Given the description of an element on the screen output the (x, y) to click on. 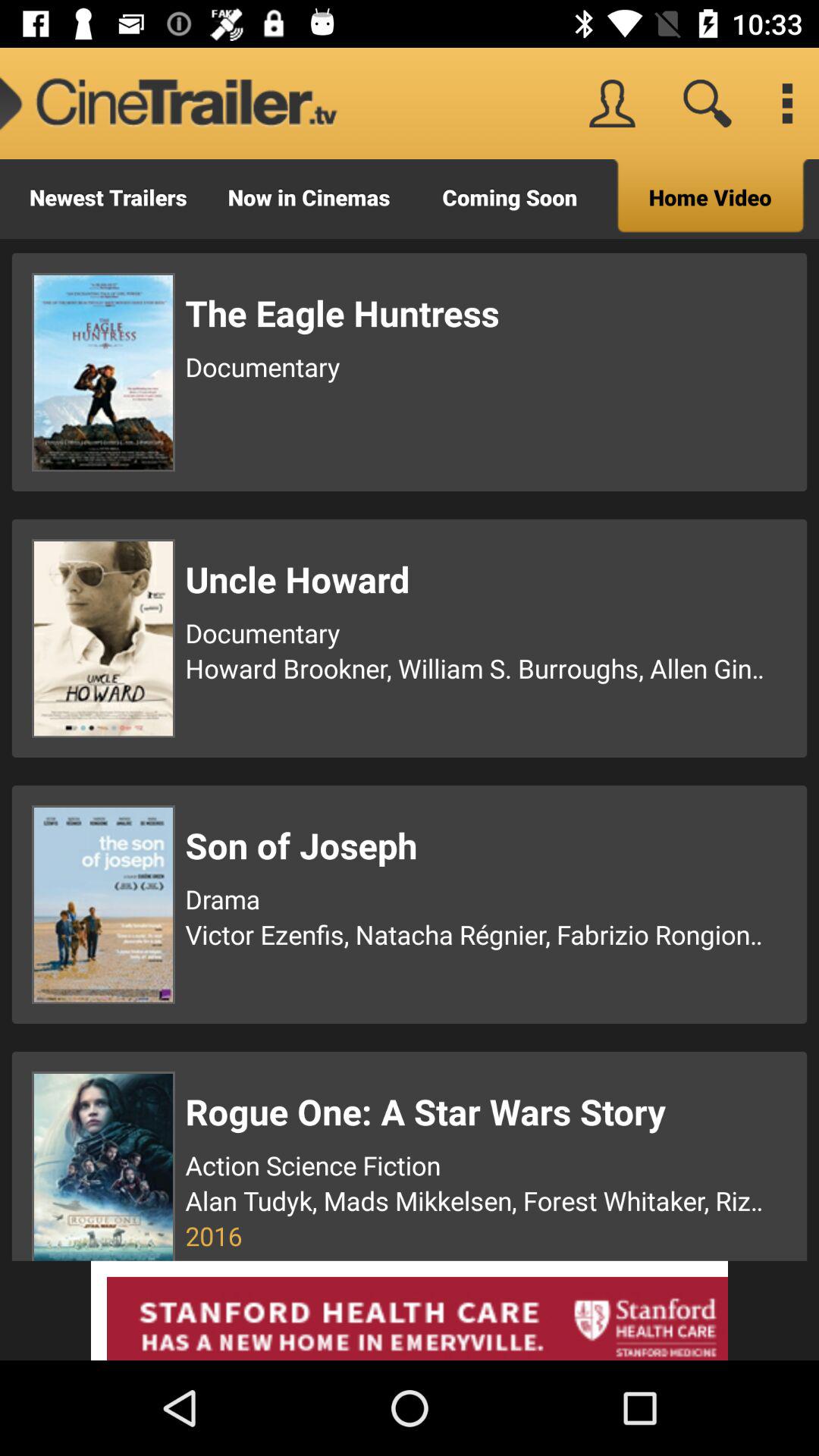
open the icon to the left of the coming soon icon (169, 103)
